Given the description of an element on the screen output the (x, y) to click on. 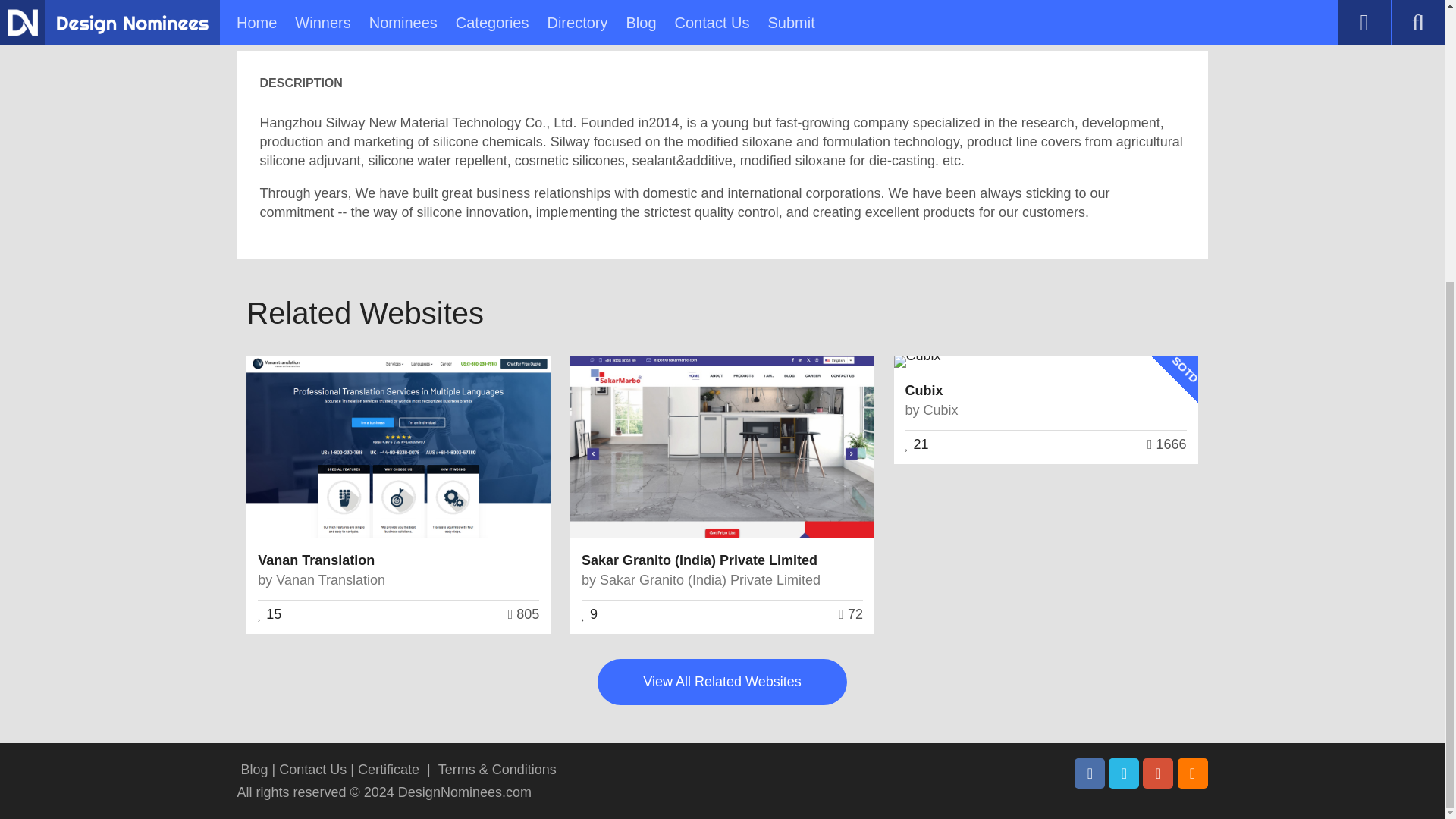
Rss (1191, 773)
Facebook (1089, 773)
Vanan Translation (315, 560)
Pinterest (1157, 773)
Twitter (1123, 773)
